Given the description of an element on the screen output the (x, y) to click on. 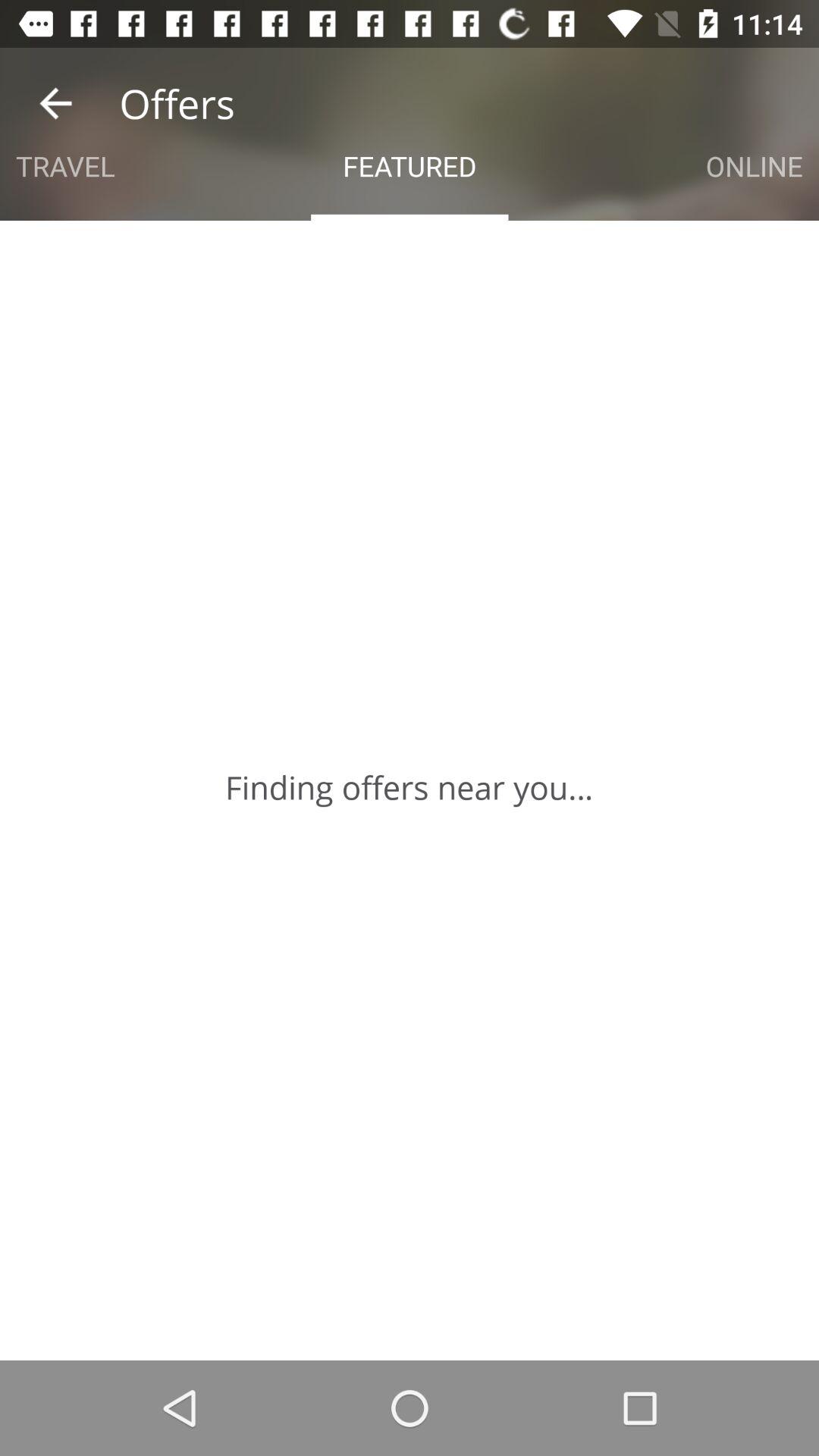
select the online at the top right corner (754, 165)
